Given the description of an element on the screen output the (x, y) to click on. 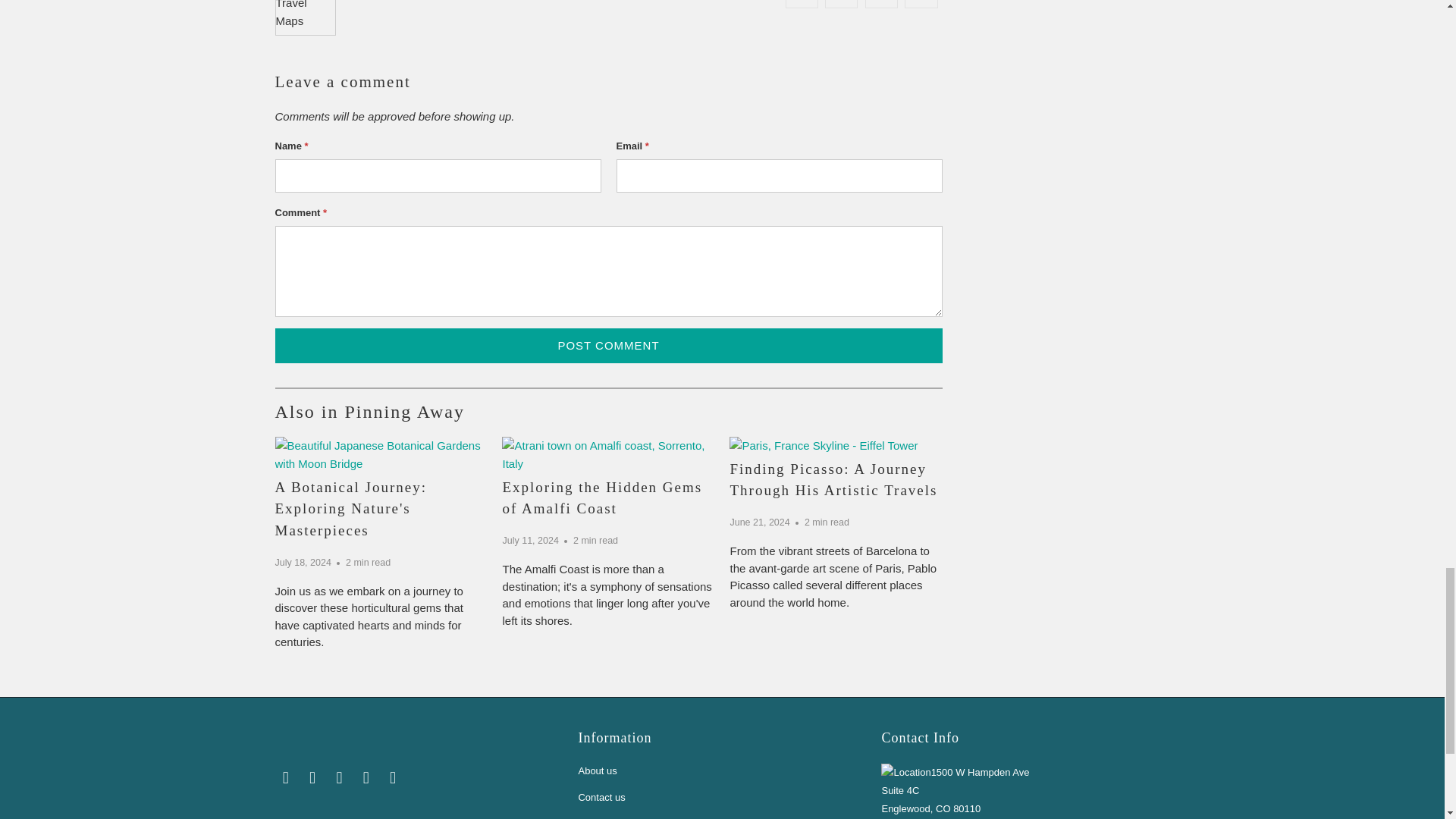
Share this on Twitter (802, 3)
Post comment (608, 344)
